Given the description of an element on the screen output the (x, y) to click on. 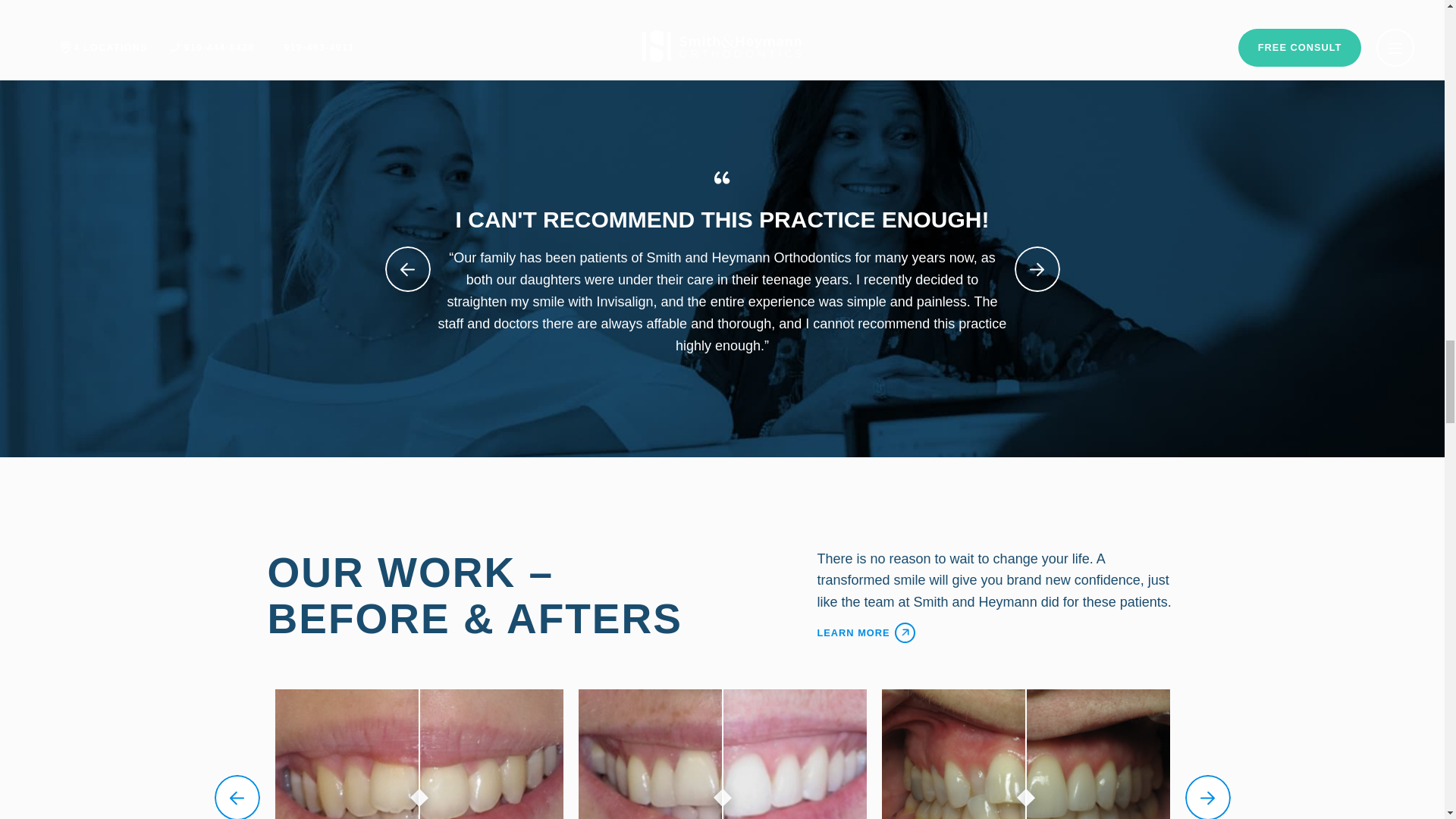
Learn More (996, 631)
